Given the description of an element on the screen output the (x, y) to click on. 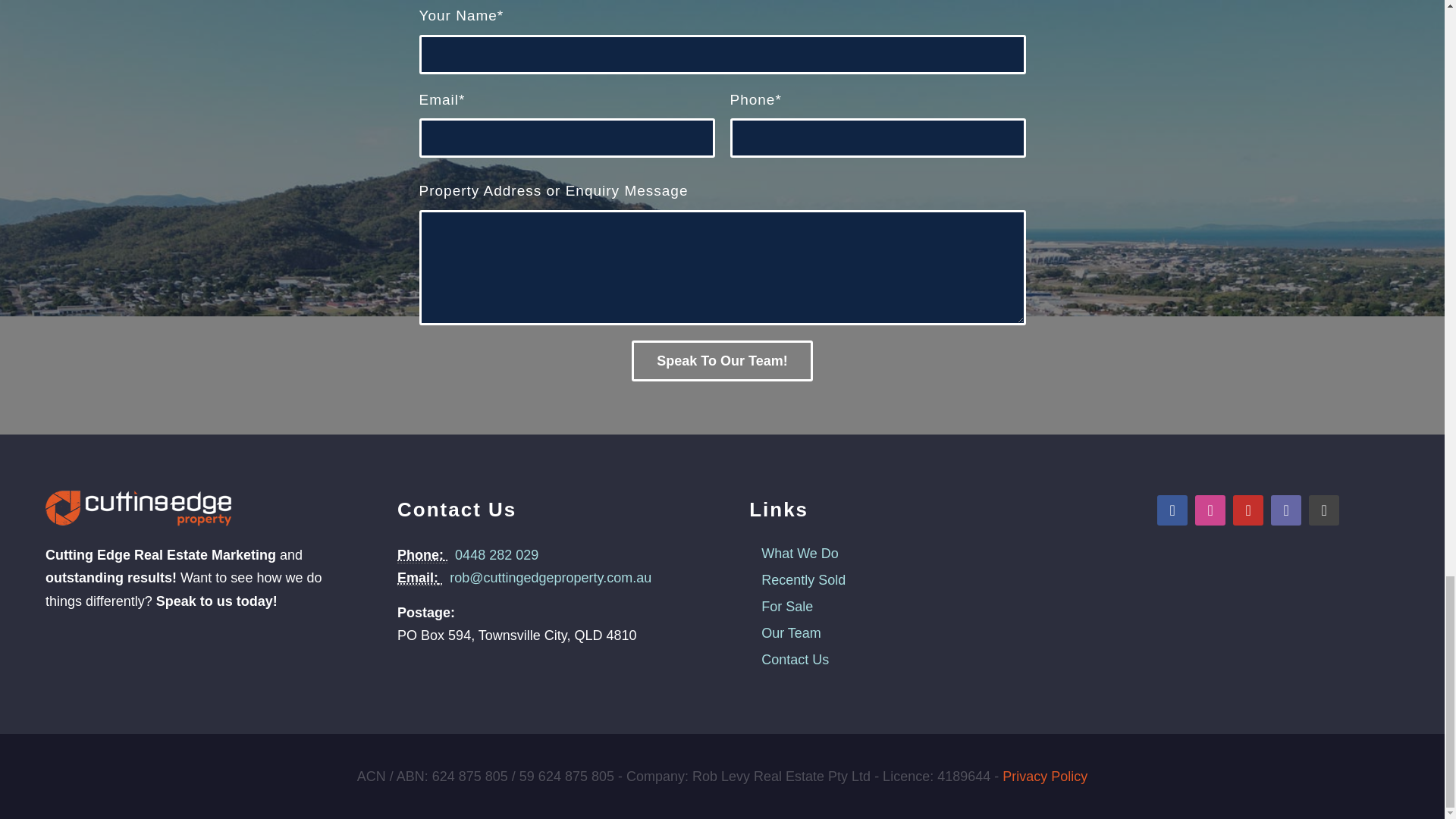
Our Team (788, 633)
Speak To Our Team! (721, 360)
Recently Sold (799, 580)
Email Address (419, 578)
Phone Number (421, 555)
What We Do (796, 553)
For Sale (783, 607)
0448 282 029 (496, 554)
